Given the description of an element on the screen output the (x, y) to click on. 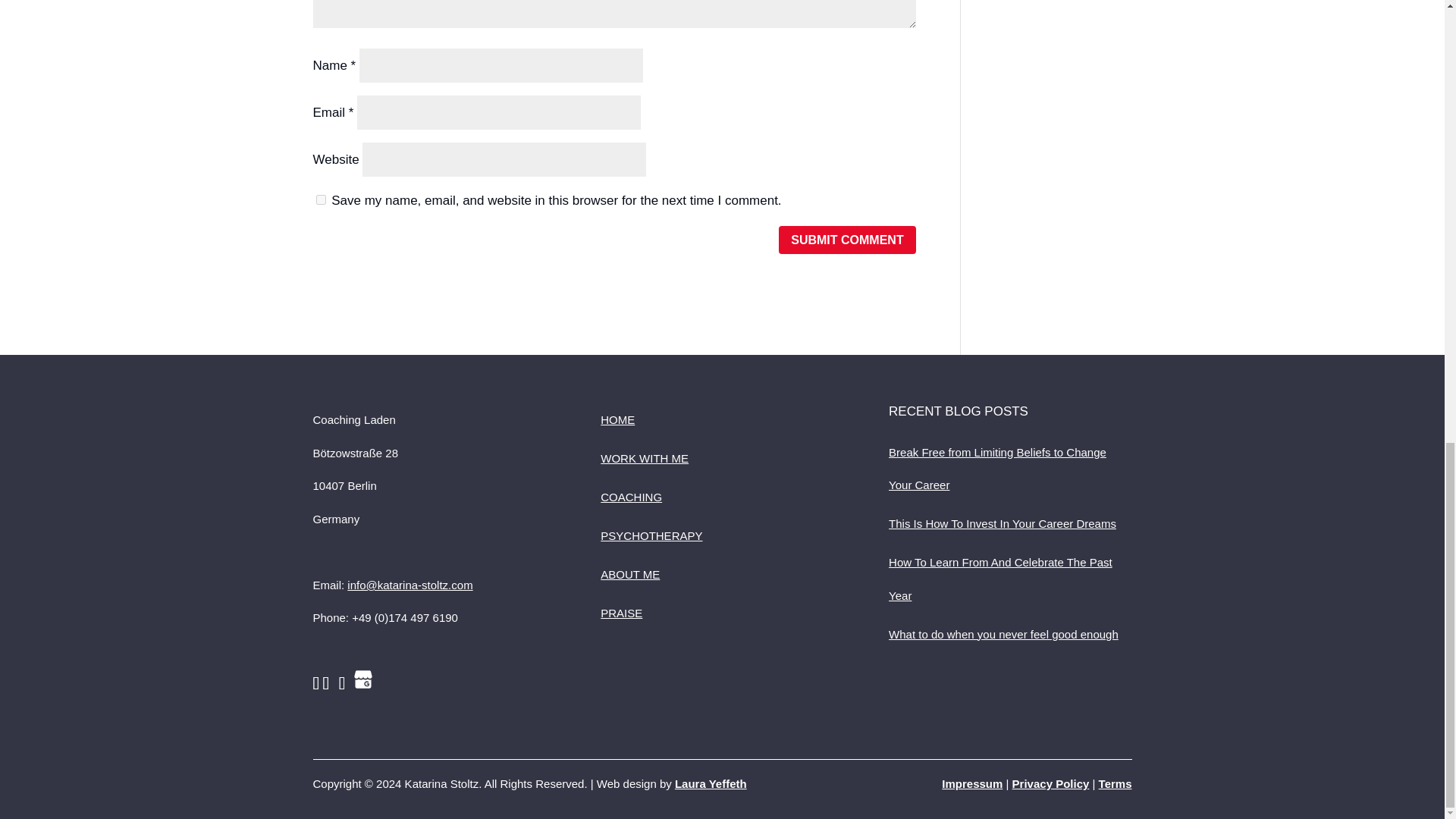
COACHING (630, 496)
Submit Comment (846, 239)
ABOUT ME (629, 574)
HOME (616, 419)
yes (319, 199)
WORK WITH ME (643, 458)
Submit Comment (846, 239)
PSYCHOTHERAPY (650, 535)
